Given the description of an element on the screen output the (x, y) to click on. 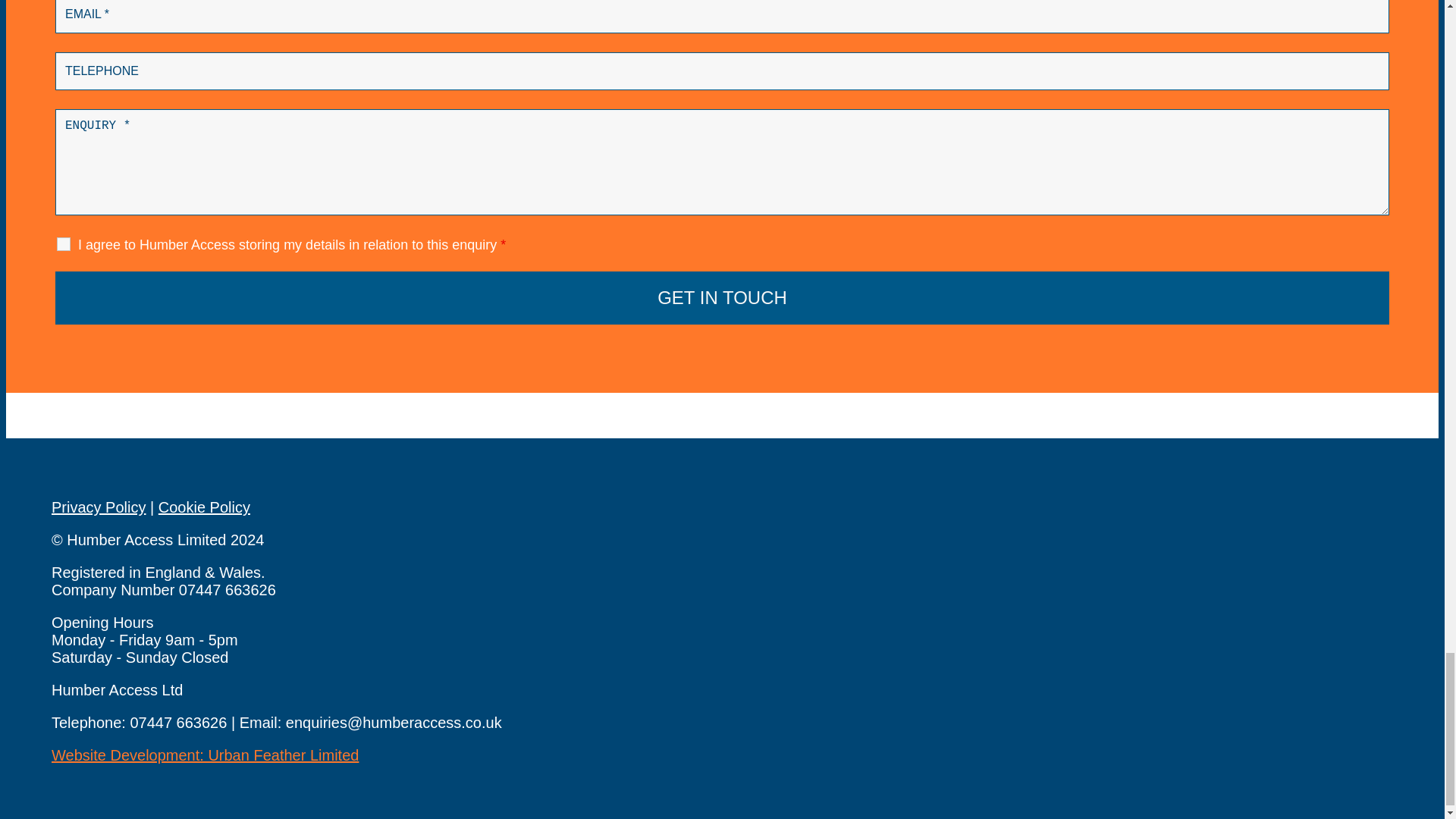
Web development by Urban Feather (204, 754)
Privacy Policy (97, 506)
Get in touch (722, 297)
Cookie Policy (204, 506)
Website Development: Urban Feather Limited (204, 754)
Get in touch (722, 297)
Cookie Policy (204, 506)
Privacy Policy (97, 506)
